Given the description of an element on the screen output the (x, y) to click on. 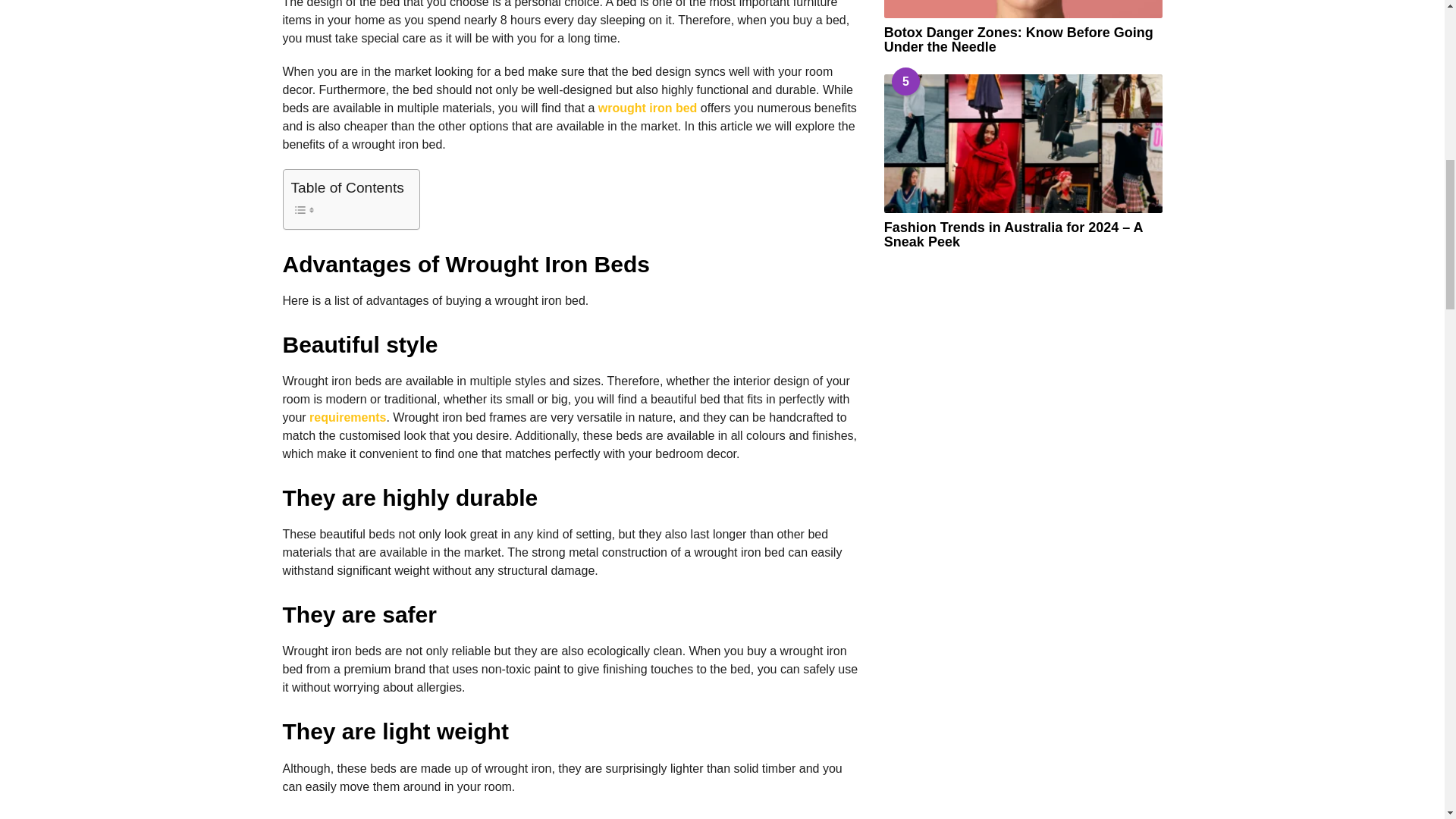
requirements (346, 417)
wrought iron bed (647, 107)
